Given the description of an element on the screen output the (x, y) to click on. 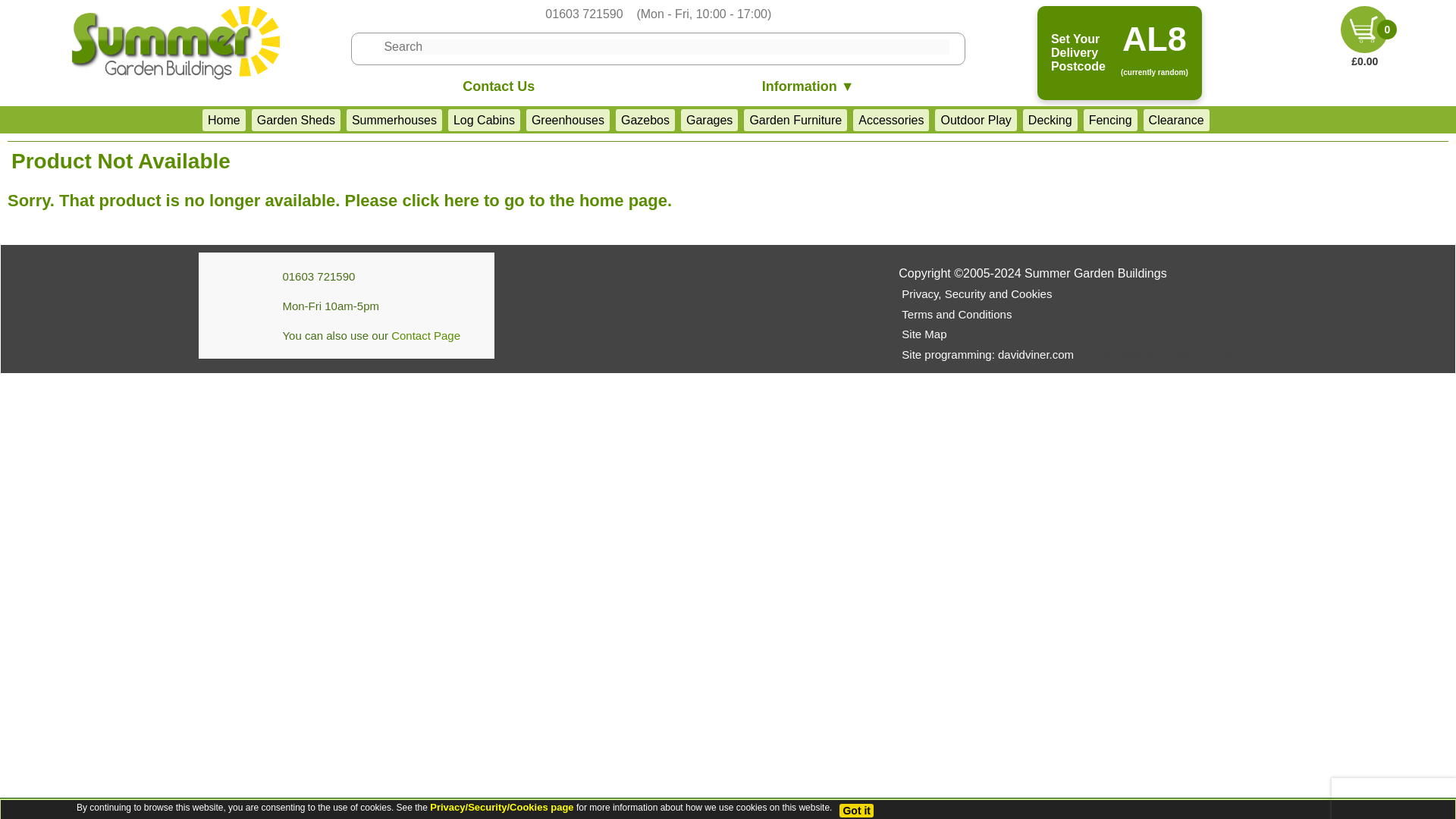
Your basket is empty (1364, 29)
Garden Sheds (295, 119)
Outdoor Play (975, 119)
Fencing (1110, 119)
davidviner.com (987, 354)
Decking (1050, 119)
Log Cabins (483, 119)
Garages (709, 119)
Garden Furniture (795, 119)
Contact Us (498, 87)
Summerhouses (394, 119)
Gazebos (645, 119)
Alphanumeric Characters Only Please (665, 46)
Clearance (1175, 119)
Accessories (890, 119)
